Given the description of an element on the screen output the (x, y) to click on. 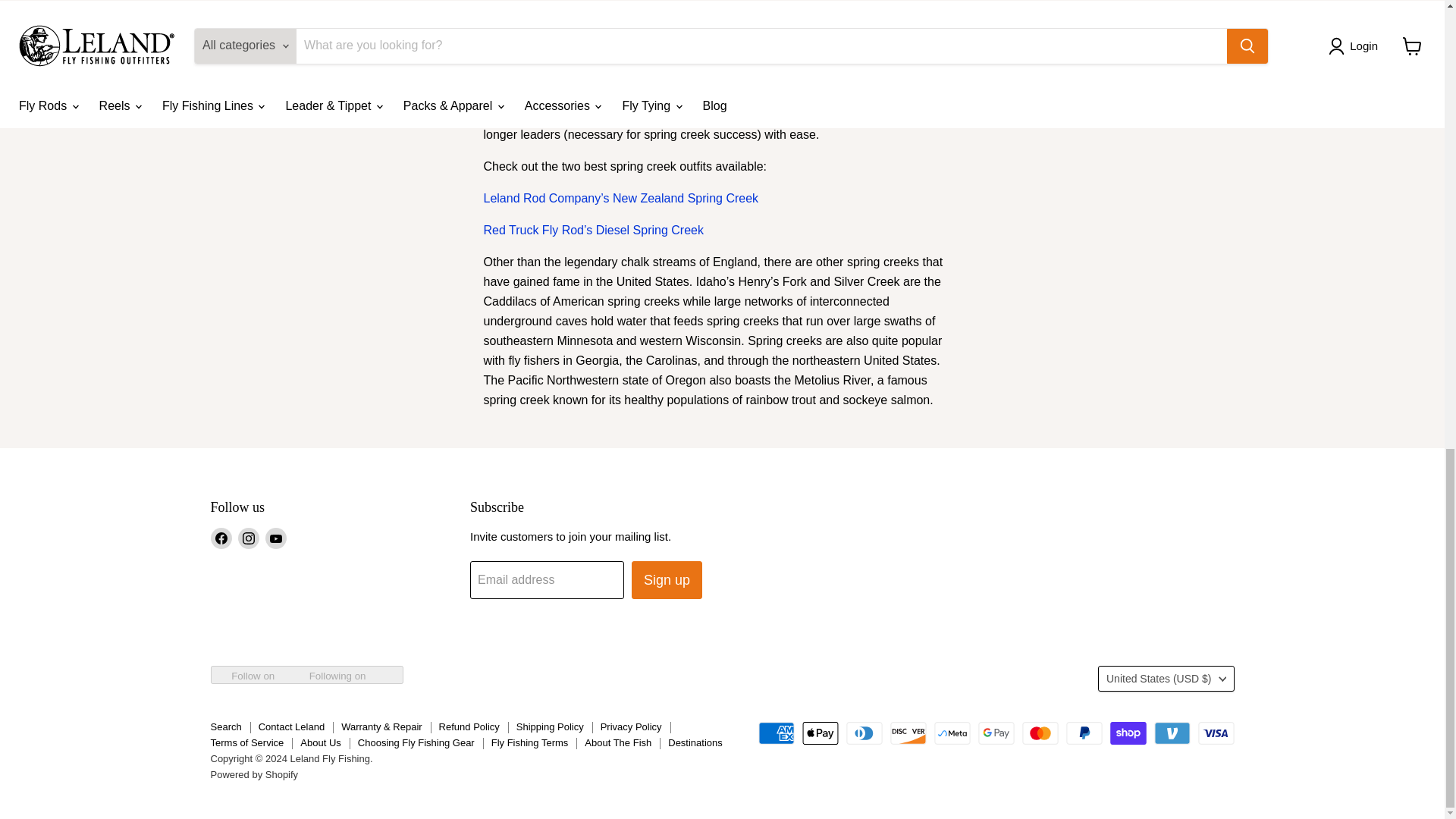
American Express (776, 732)
Google Pay (996, 732)
Discover (907, 732)
Apple Pay (820, 732)
YouTube (275, 537)
Instagram (248, 537)
Diners Club (863, 732)
Meta Pay (952, 732)
Facebook (221, 537)
